Given the description of an element on the screen output the (x, y) to click on. 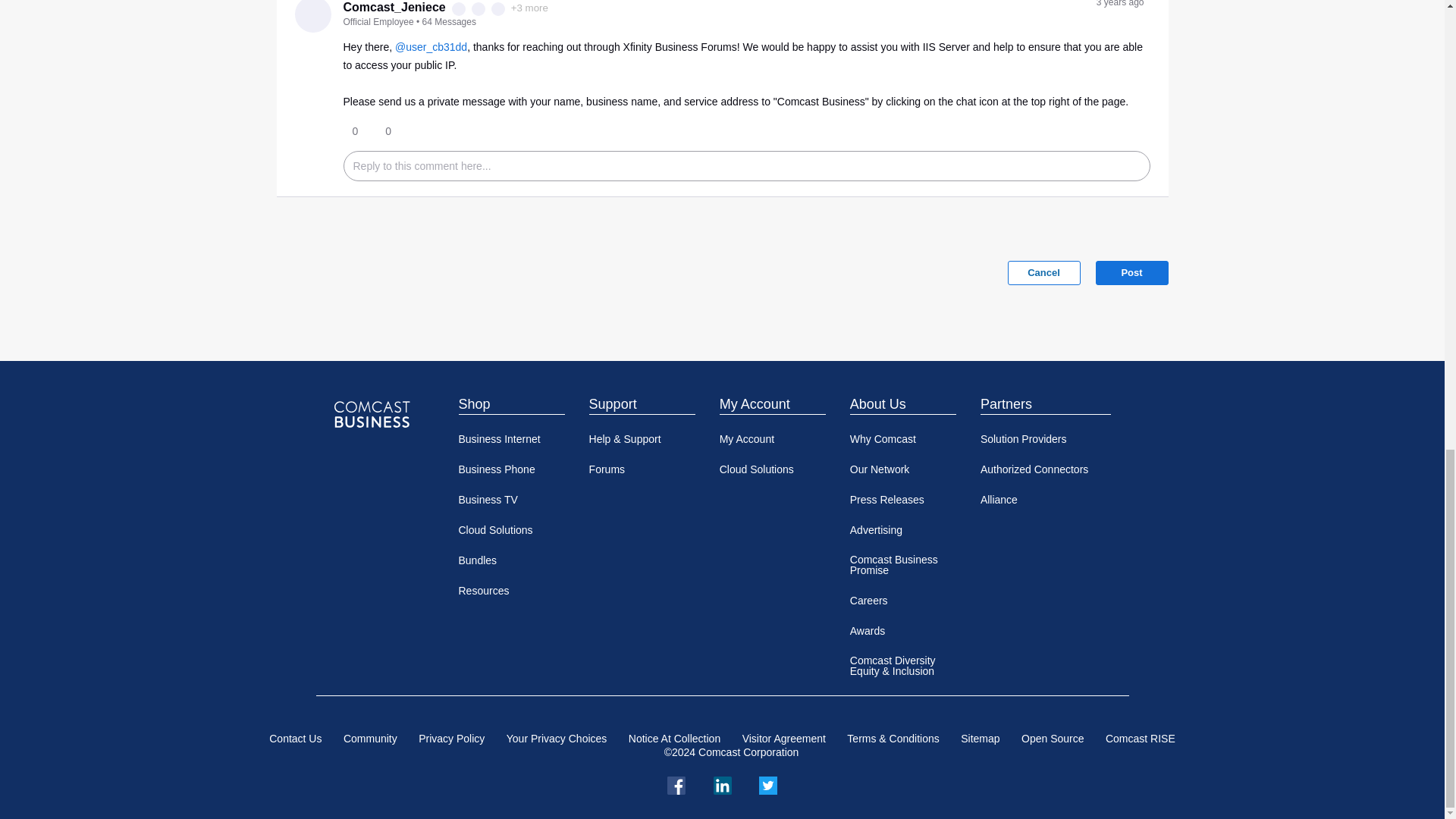
Shop (511, 404)
Business Internet (511, 439)
Cancel (1043, 273)
1st Follower (498, 8)
Comcast Business (371, 414)
1st Reply (458, 8)
Expressive Exchange (477, 8)
Post (1130, 273)
